Given the description of an element on the screen output the (x, y) to click on. 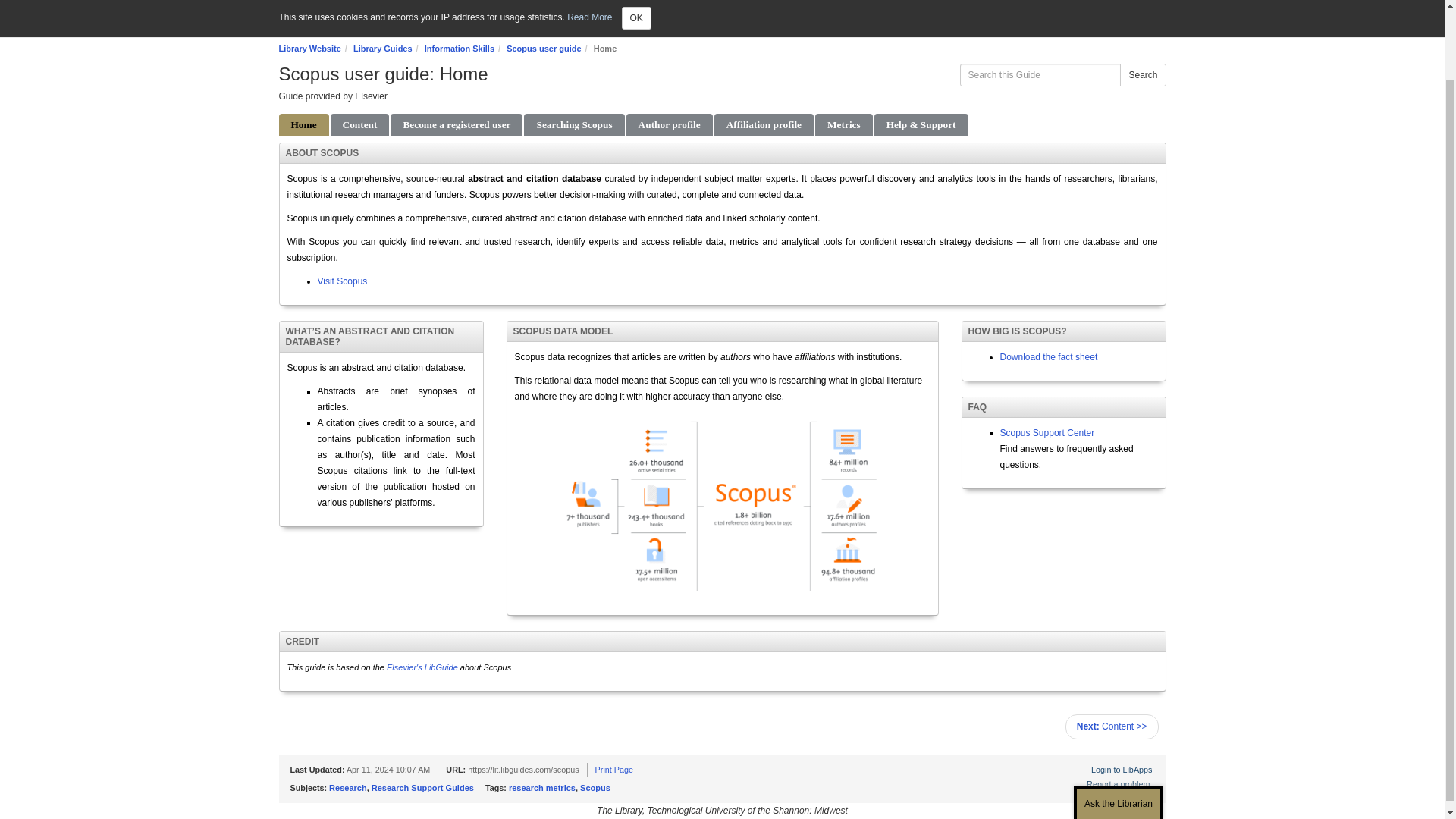
Scopus Support Center (1046, 432)
Home (304, 124)
Metrics (843, 124)
Research (347, 787)
Search (1142, 74)
Report a problem. (1118, 783)
Author profile (669, 124)
Visit Scopus (341, 281)
Searching Scopus (574, 124)
Content (360, 124)
Library Website (309, 48)
Library Guides (382, 48)
Login to LibApps (1120, 768)
Information Skills (460, 48)
Research Support Guides (422, 787)
